Given the description of an element on the screen output the (x, y) to click on. 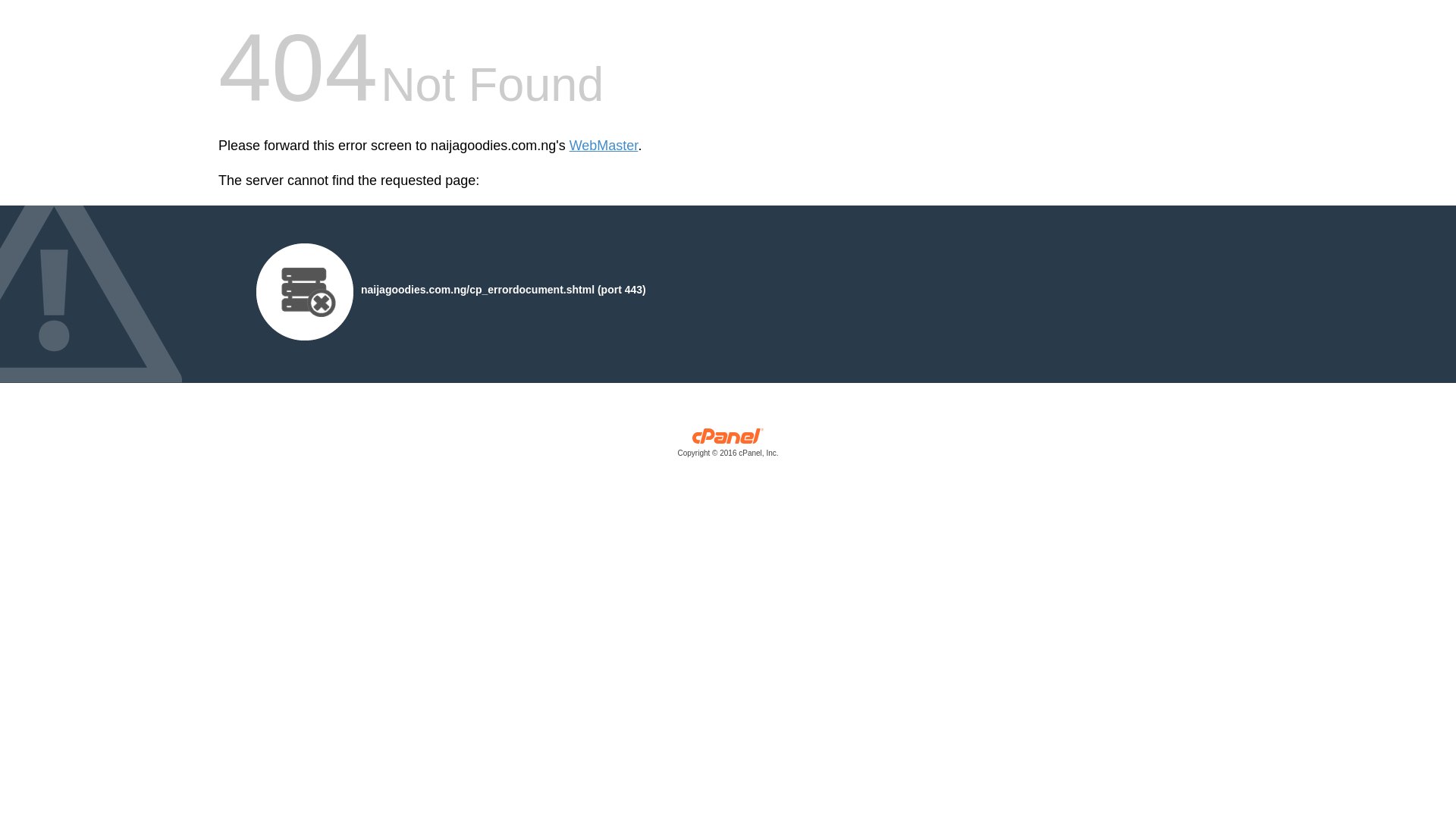
WebMaster (604, 145)
cPanel, Inc. (727, 446)
